Given the description of an element on the screen output the (x, y) to click on. 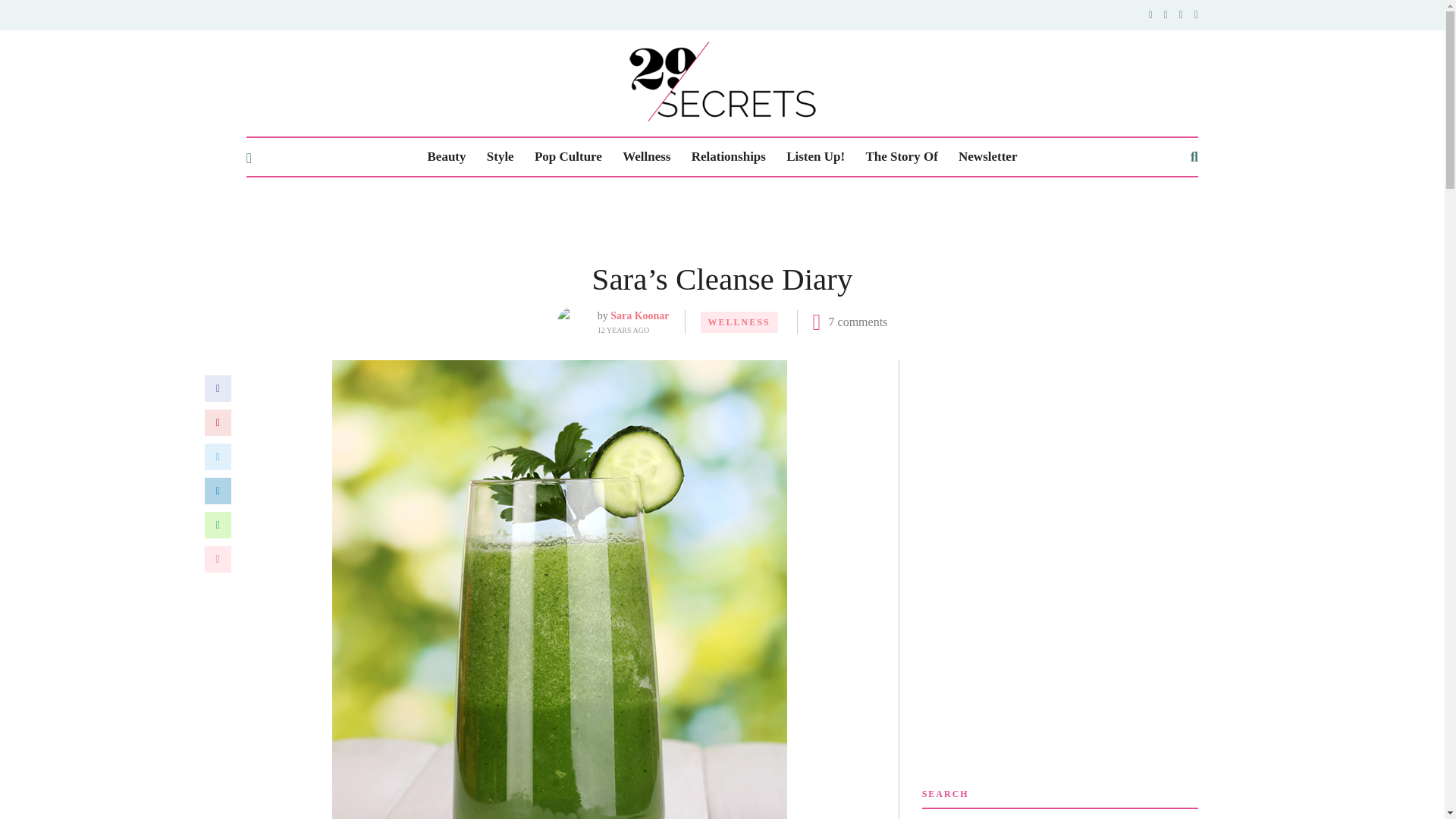
Listen Up! (815, 89)
7 comments (858, 254)
Search (1120, 779)
Pop Culture (568, 89)
Newsletter (987, 89)
Wellness (646, 89)
The Story Of (900, 89)
Search (1120, 779)
WELLNESS (738, 254)
Beauty (446, 89)
29Secrets (722, 47)
Relationships (728, 89)
Sara Koonar (639, 247)
